Given the description of an element on the screen output the (x, y) to click on. 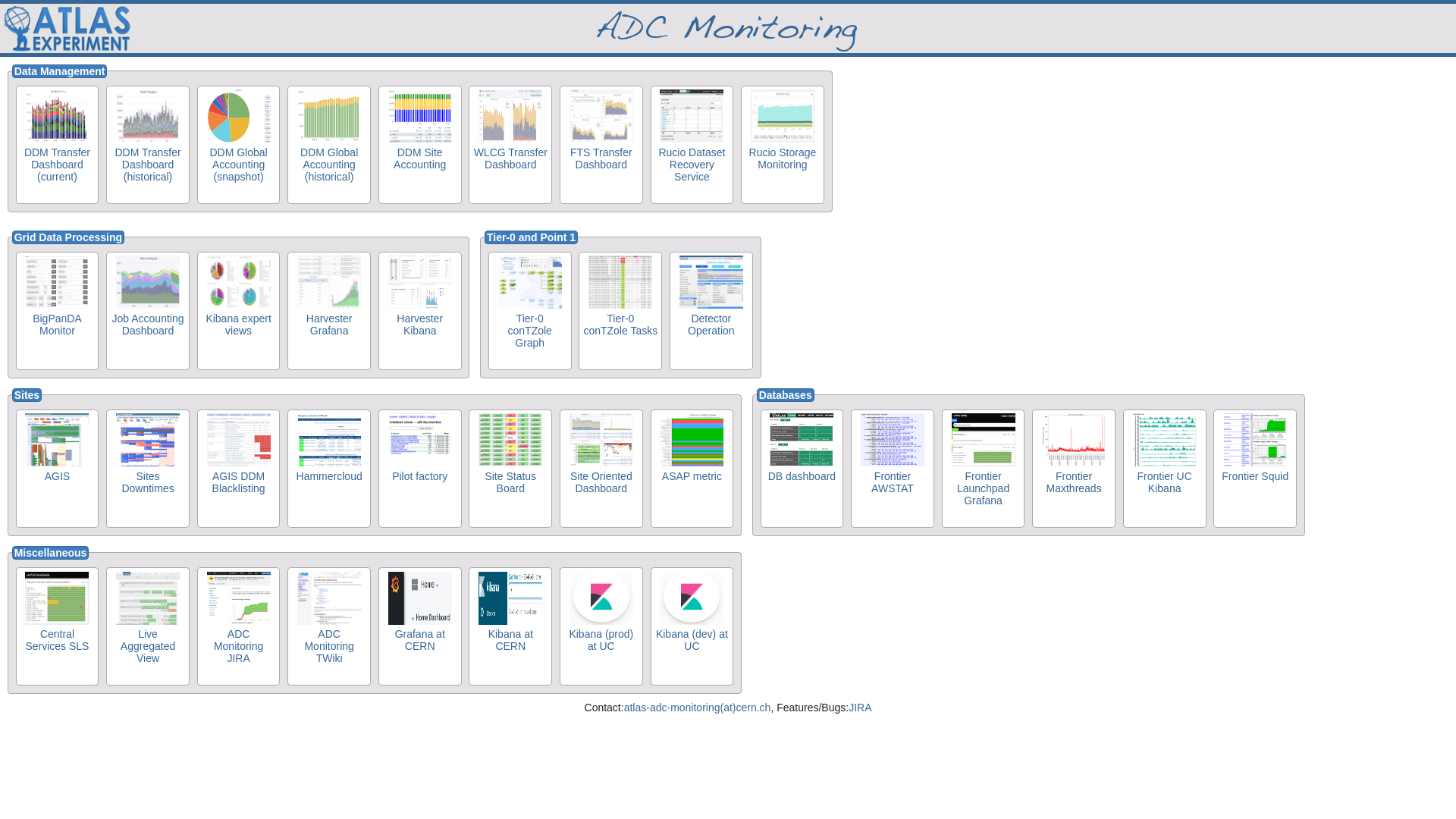
Site Status Board Element type: text (510, 468)
DDM Global Accounting (snapshot) Element type: text (238, 144)
FTS Transfer Dashboard Element type: text (601, 144)
Frontier Maxthreads Element type: text (1073, 468)
AGIS DDM Blacklisting Element type: text (238, 468)
Frontier UC Kibana Element type: text (1164, 468)
Kibana at CERN Element type: text (510, 626)
Rucio Dataset Recovery Service Element type: text (691, 144)
DDM Global Accounting (historical) Element type: text (328, 144)
Pilot factory Element type: text (419, 468)
Frontier Squid Element type: text (1254, 468)
DDM Site Accounting Element type: text (419, 144)
Rucio Storage Monitoring Element type: text (782, 144)
Central Services SLS Element type: text (56, 626)
Hammercloud Element type: text (328, 468)
Tier-0 conTZole Tasks Element type: text (620, 310)
DDM Transfer Dashboard (current) Element type: text (56, 144)
atlas-adc-monitoring(at)cern.ch Element type: text (697, 707)
Kibana (prod) at UC Element type: text (601, 626)
WLCG Transfer Dashboard Element type: text (510, 144)
Tier-0 conTZole Graph Element type: text (529, 310)
DDM Transfer Dashboard (historical) Element type: text (147, 144)
ADC Monitoring TWiki Element type: text (328, 626)
Harvester Kibana Element type: text (419, 310)
BigPanDA Monitor Element type: text (56, 310)
Site Oriented Dashboard Element type: text (601, 468)
DB dashboard Element type: text (801, 468)
JIRA Element type: text (859, 707)
Harvester Grafana Element type: text (328, 310)
Detector Operation Element type: text (711, 310)
Job Accounting Dashboard Element type: text (147, 310)
ADC Monitoring JIRA Element type: text (238, 626)
Kibana (dev) at UC Element type: text (691, 626)
Kibana expert views Element type: text (238, 310)
Frontier AWSTAT Element type: text (892, 468)
Grafana at CERN Element type: text (419, 626)
Live Aggregated View Element type: text (147, 626)
Sites Downtimes Element type: text (147, 468)
Frontier Launchpad Grafana Element type: text (983, 468)
ASAP metric Element type: text (691, 468)
AGIS Element type: text (56, 468)
